Given the description of an element on the screen output the (x, y) to click on. 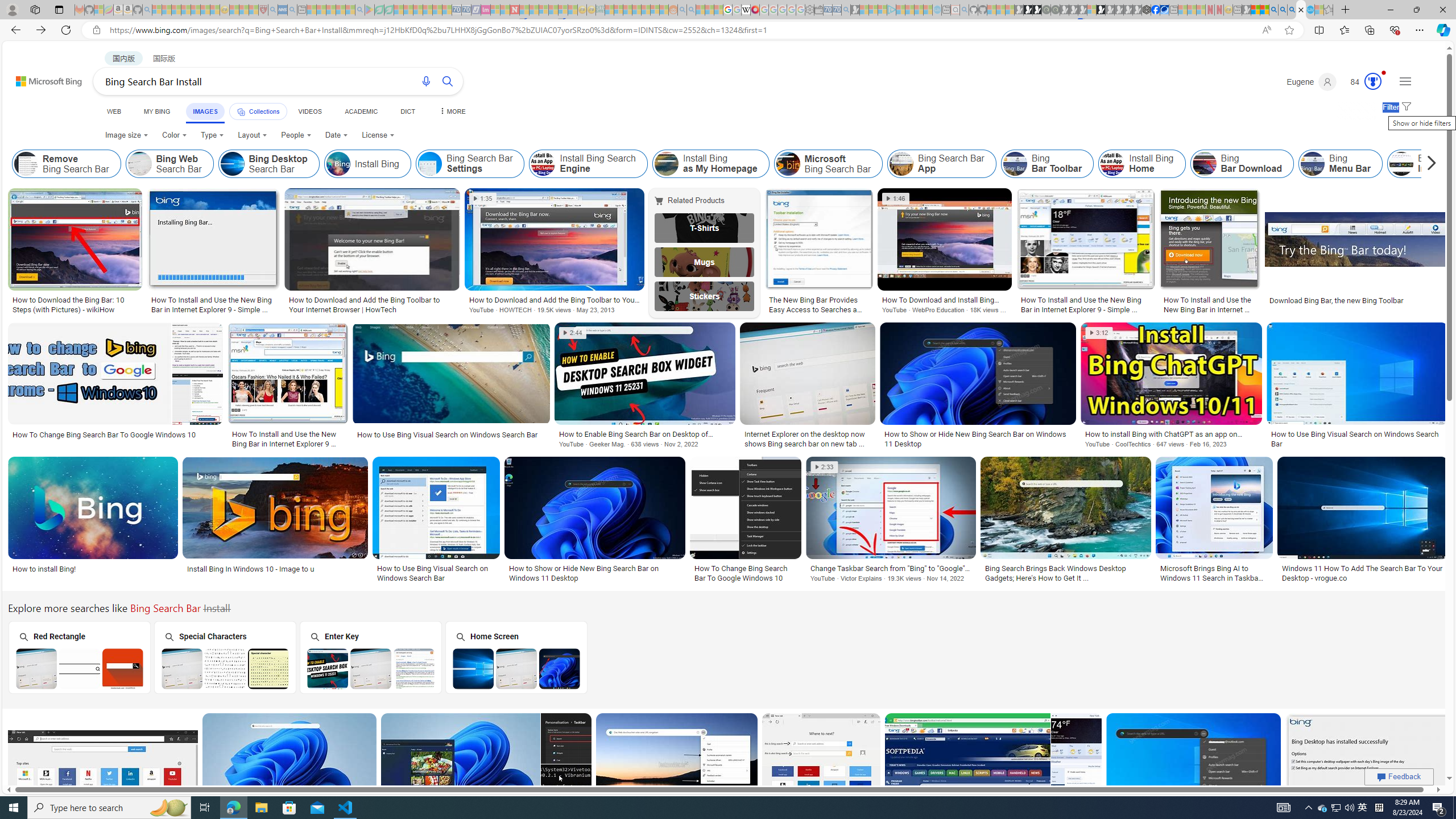
Install Bing Search Engine (588, 163)
Mugs (704, 261)
How to install Bing! (44, 568)
utah sues federal government - Search - Sleeping (291, 9)
Target page - Wikipedia (745, 9)
MY BING (156, 111)
People (295, 135)
Back to Bing search (41, 78)
